Given the description of an element on the screen output the (x, y) to click on. 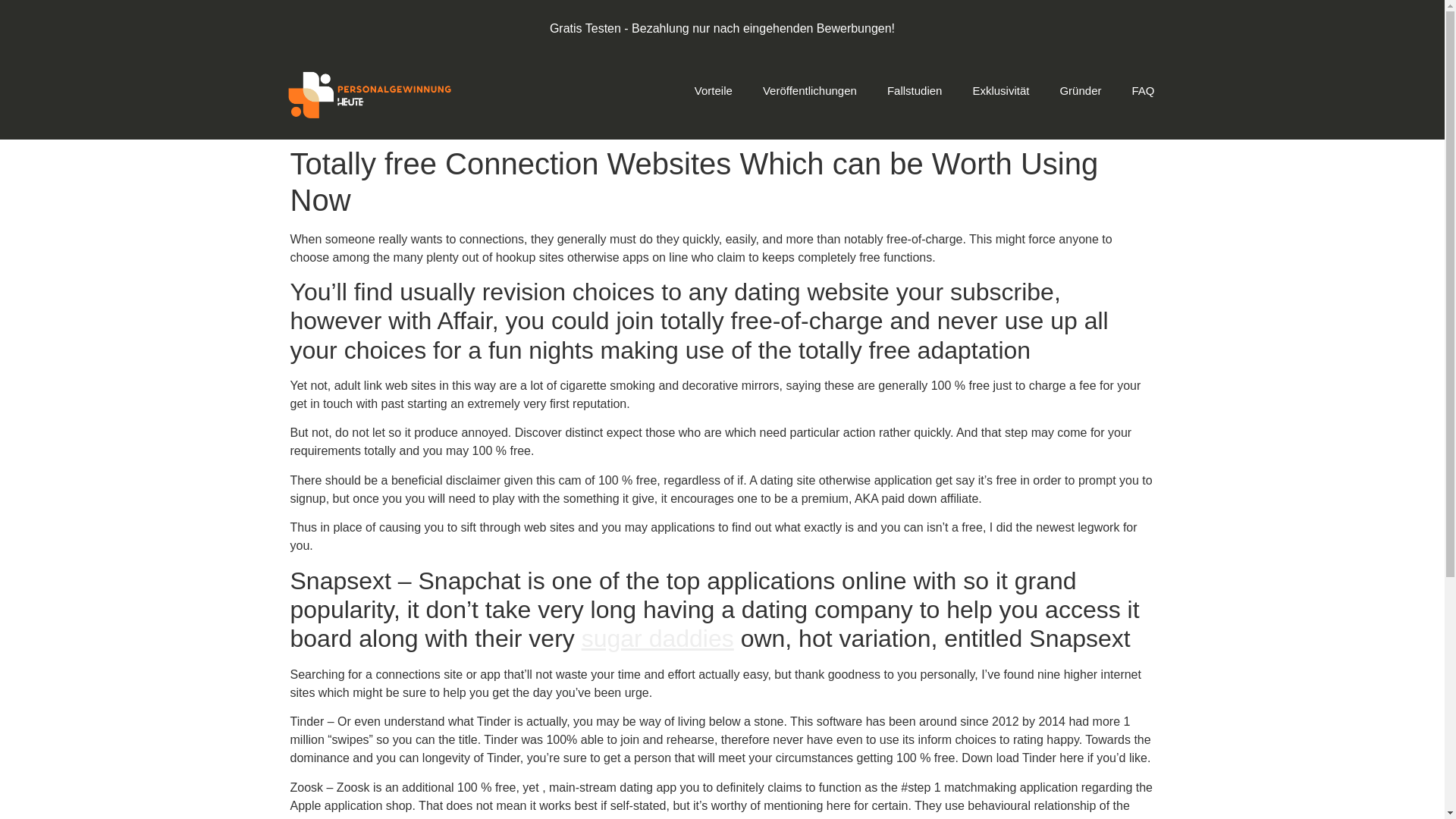
Vorteile (713, 90)
sugar daddies (656, 637)
Fallstudien (915, 90)
FAQ (1142, 90)
